Given the description of an element on the screen output the (x, y) to click on. 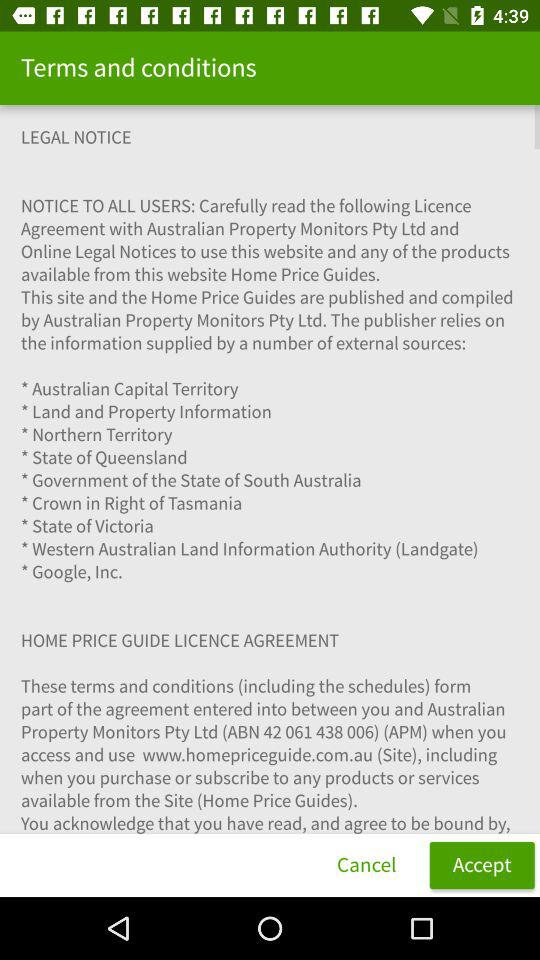
swipe to accept icon (482, 864)
